Given the description of an element on the screen output the (x, y) to click on. 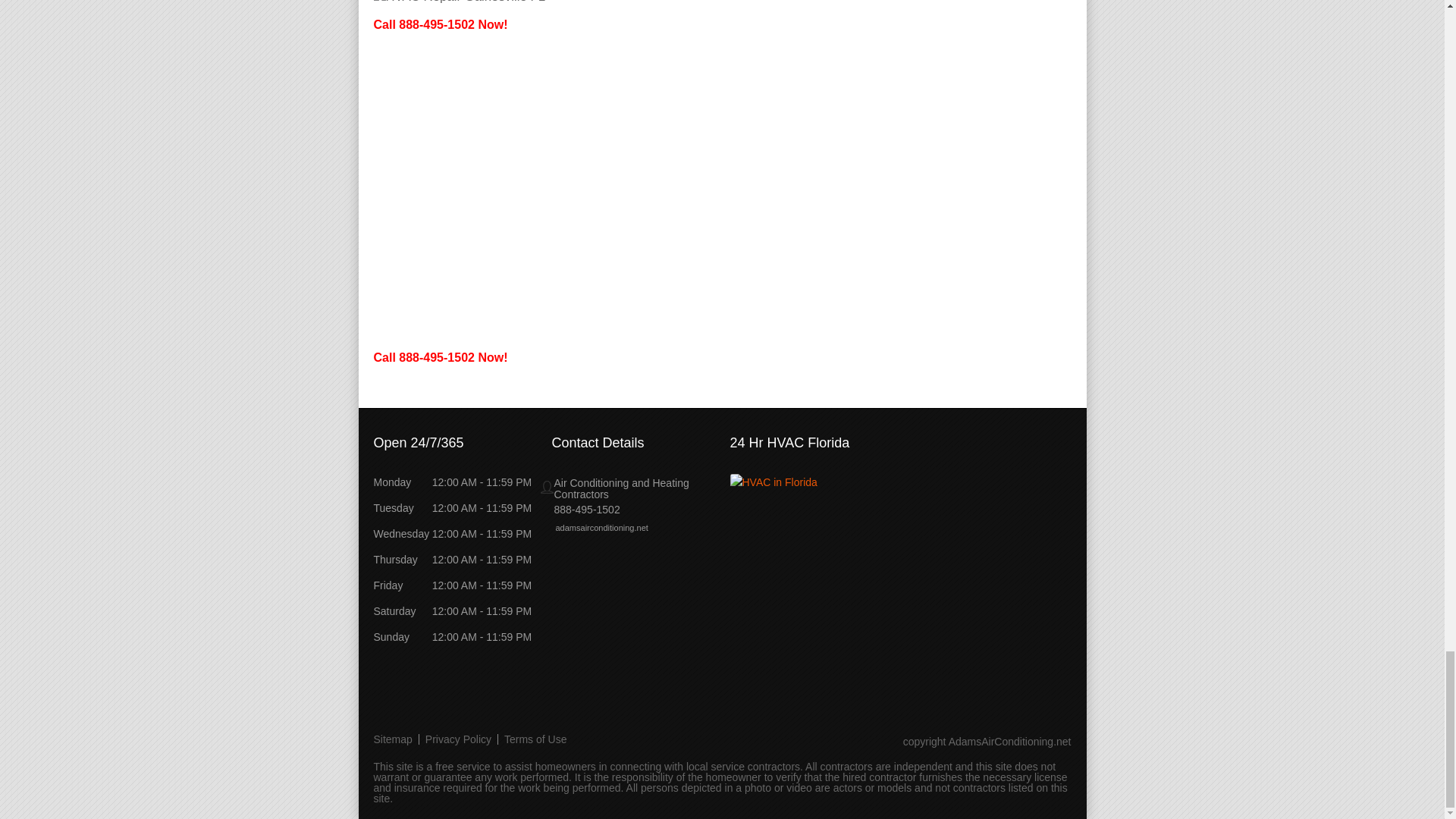
Call 888-495-1502 Now! (439, 24)
Call 888-495-1502 Now! (439, 357)
Terms of Use (534, 738)
adamsairconditioning.net (593, 527)
Privacy Policy (458, 738)
HVAC Repair Gainesville FL (458, 2)
Sitemap (395, 738)
